Given the description of an element on the screen output the (x, y) to click on. 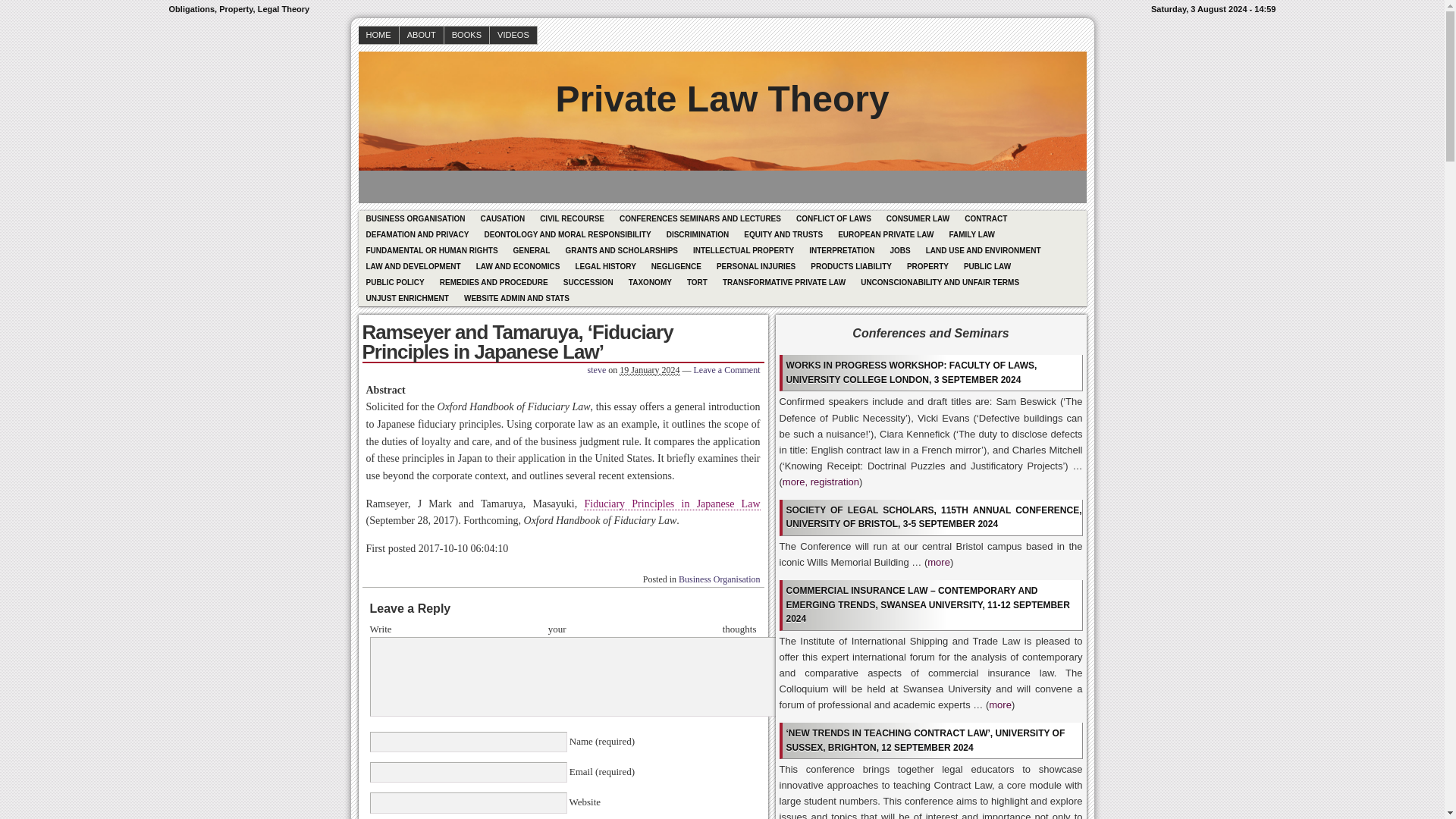
PUBLIC POLICY (394, 282)
ABOUT (421, 34)
INTERPRETATION (842, 250)
BOOKS (466, 34)
DISCRIMINATION (697, 234)
DEONTOLOGY AND MORAL RESPONSIBILITY (567, 234)
FAMILY LAW (971, 234)
FUNDAMENTAL OR HUMAN RIGHTS (431, 250)
TRANSFORMATIVE PRIVATE LAW (783, 282)
EQUITY AND TRUSTS (782, 234)
Obligations, Property, Legal Theory (721, 88)
GENERAL (531, 250)
LAW AND DEVELOPMENT (412, 266)
DEFAMATION AND PRIVACY (417, 234)
EUROPEAN PRIVATE LAW (884, 234)
